Given the description of an element on the screen output the (x, y) to click on. 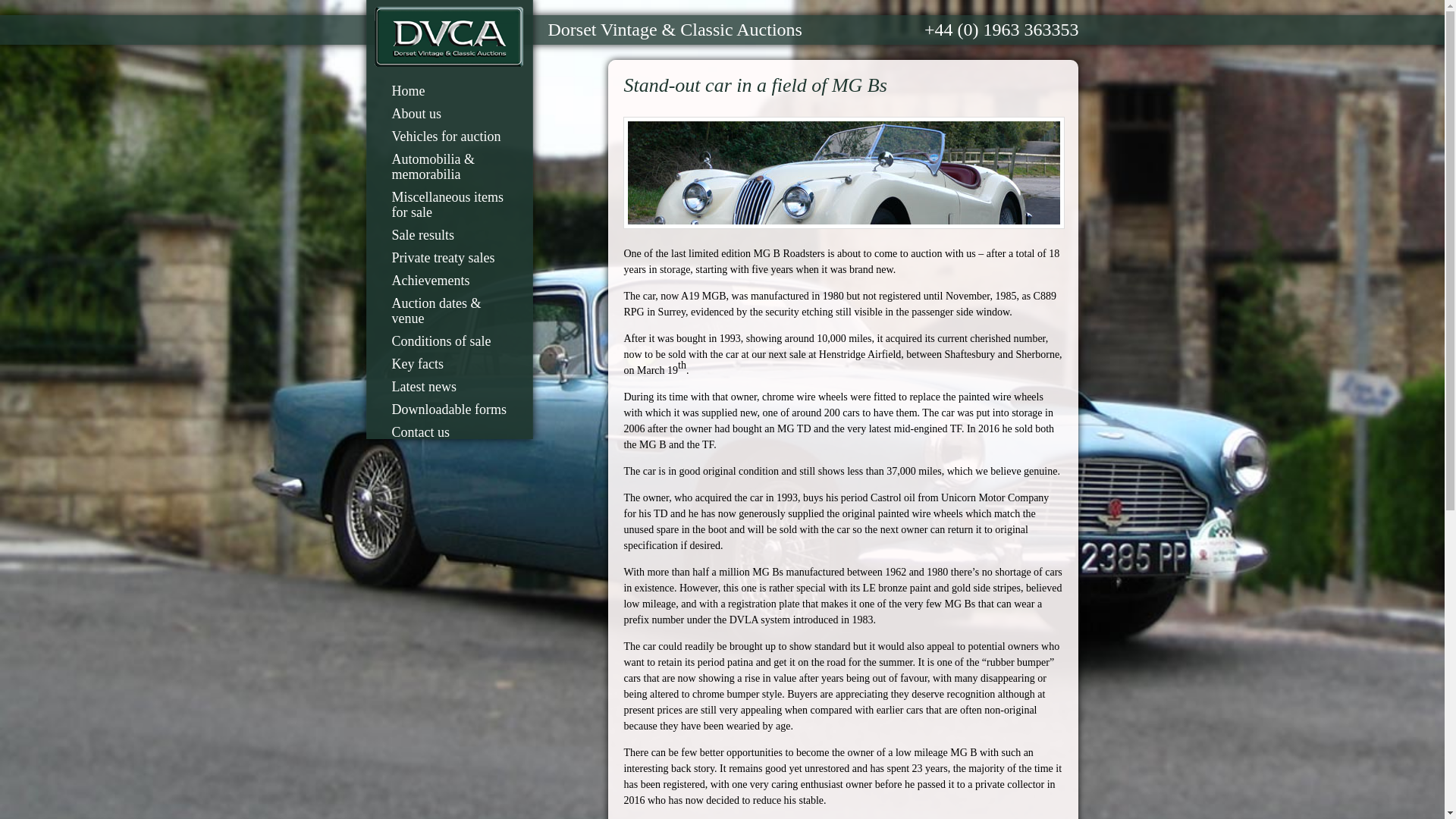
Contact Us (415, 431)
Contact us (415, 431)
About us (411, 112)
Miscellaneous items for sale (448, 203)
Achievements (424, 279)
Latest News (418, 385)
Latest news (418, 385)
Downloadable forms (443, 408)
Miscellaneous items for sale (448, 203)
Sale results (417, 234)
Private treaty sales (438, 256)
Sale results (417, 234)
Achievements (424, 279)
Vehicles for auction (440, 135)
Home (403, 89)
